Given the description of an element on the screen output the (x, y) to click on. 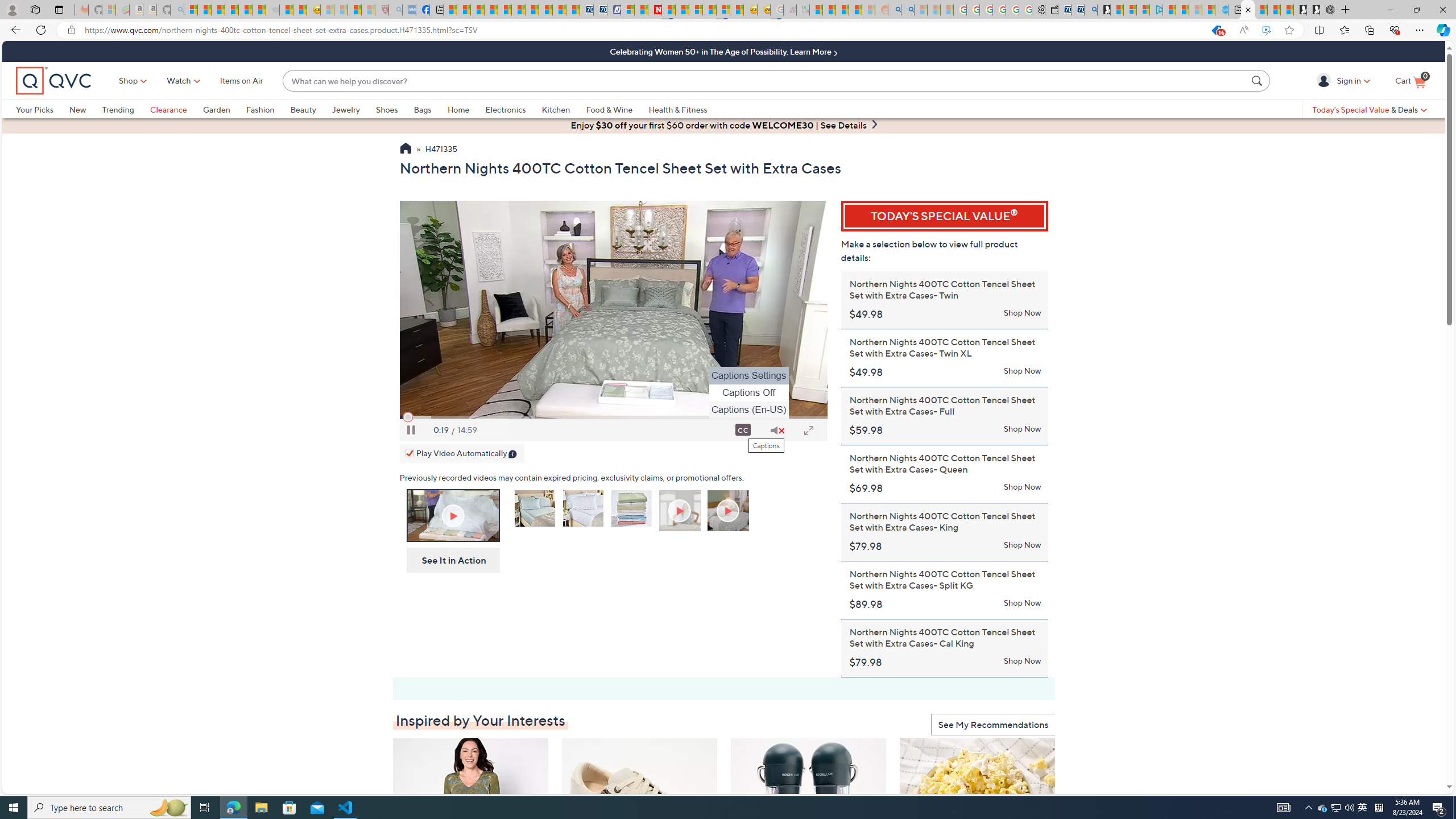
What can we help you discover? (764, 80)
Picture-in-Picture (492, 430)
Captions (743, 430)
Latest Politics News & Archive | Newsweek.com (654, 9)
Health & Fitness (680, 109)
Return to QVC Homepage (405, 149)
